Given the description of an element on the screen output the (x, y) to click on. 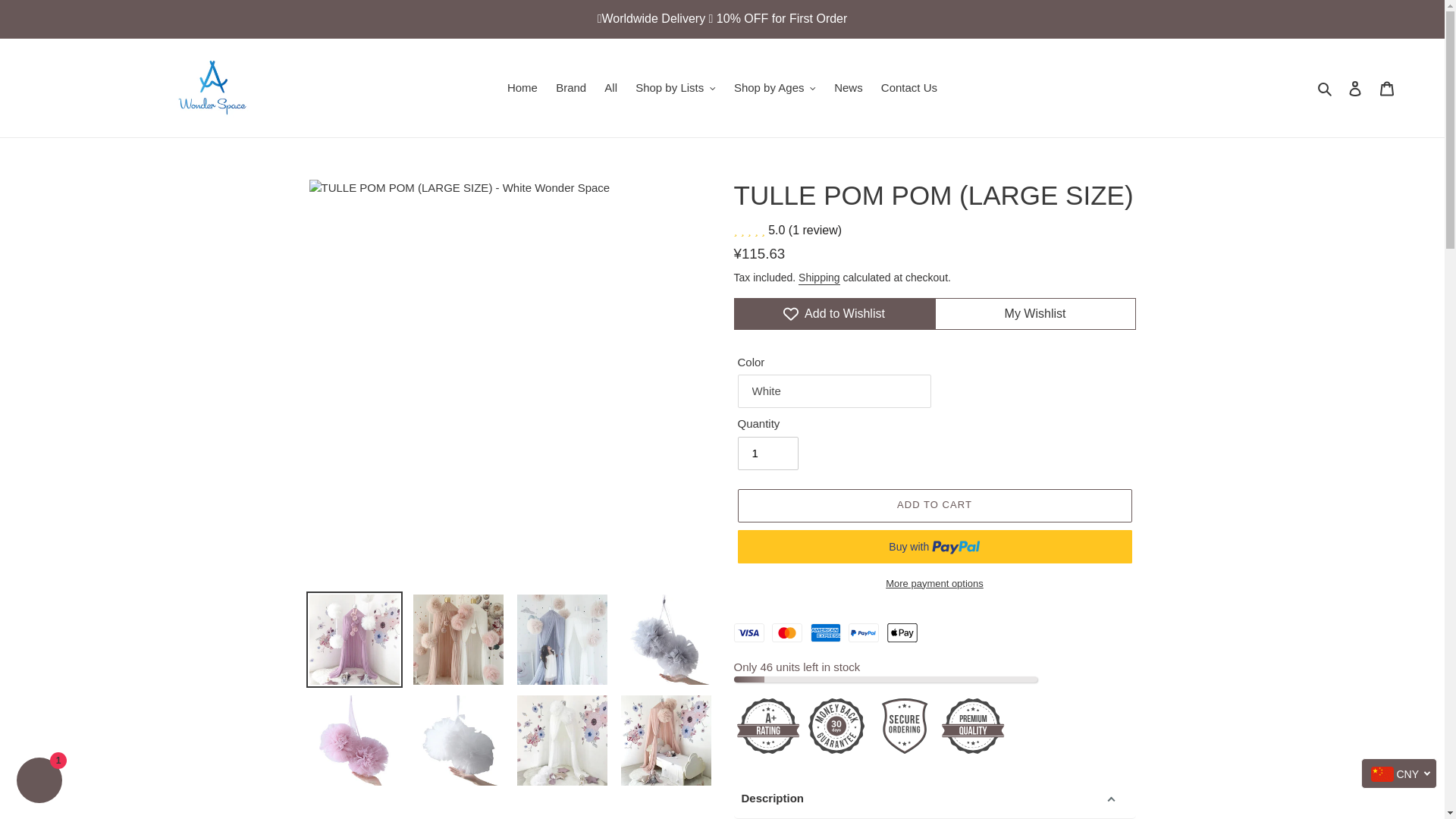
Search (1326, 87)
News (848, 87)
1 (766, 453)
Shopify online store chat (38, 781)
Shop by Ages (775, 87)
Contact Us (908, 87)
Home (521, 87)
All (610, 87)
Shop by Lists (675, 87)
Cart (1387, 88)
Log in (1355, 88)
Brand (571, 87)
